Given the description of an element on the screen output the (x, y) to click on. 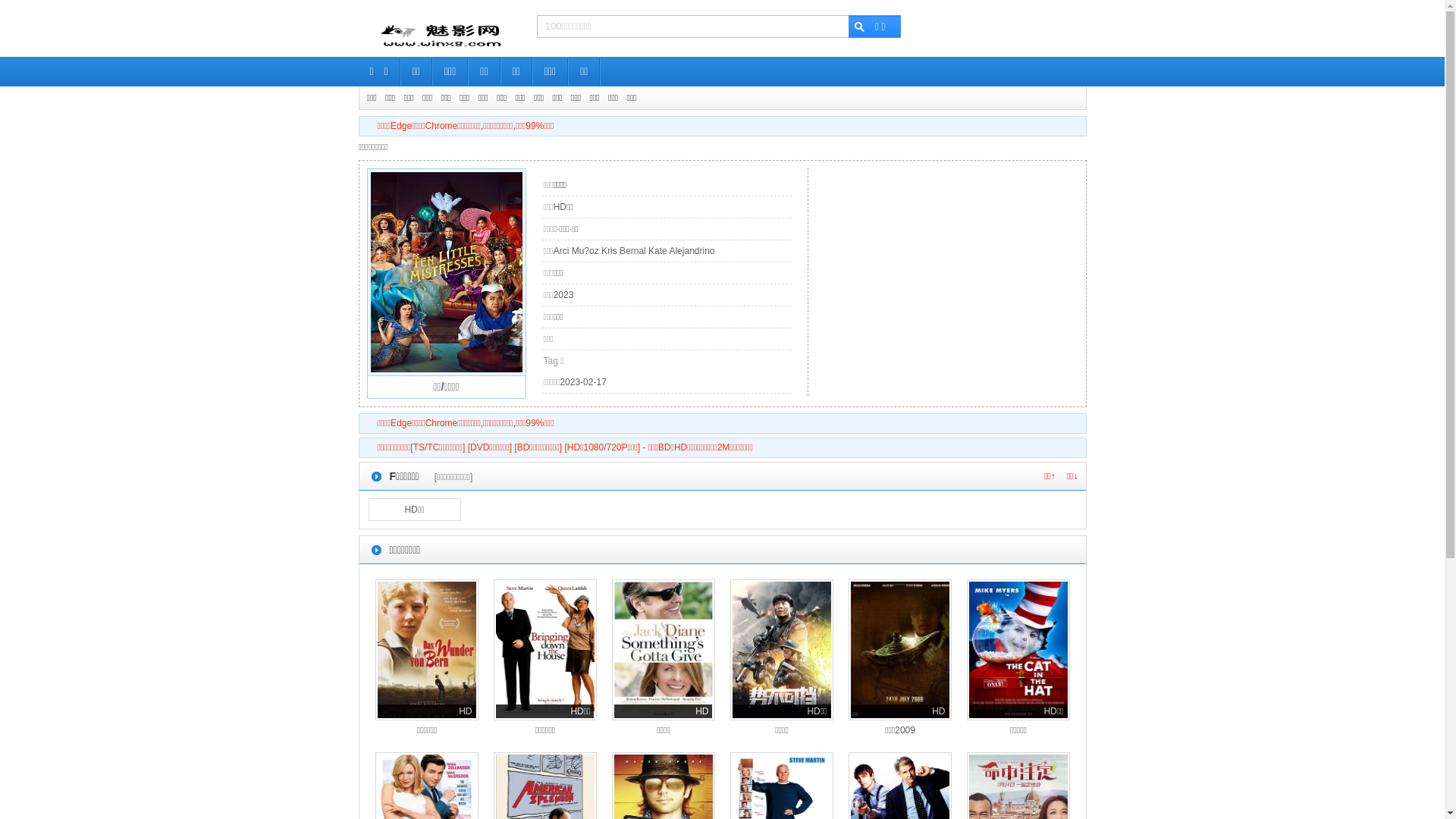
Kris Element type: text (609, 250)
Mu?oz Element type: text (585, 250)
Arci Element type: text (561, 250)
Alejandrino Element type: text (691, 250)
Bernal Element type: text (632, 250)
Kate Element type: text (657, 250)
2023 Element type: text (563, 294)
